Given the description of an element on the screen output the (x, y) to click on. 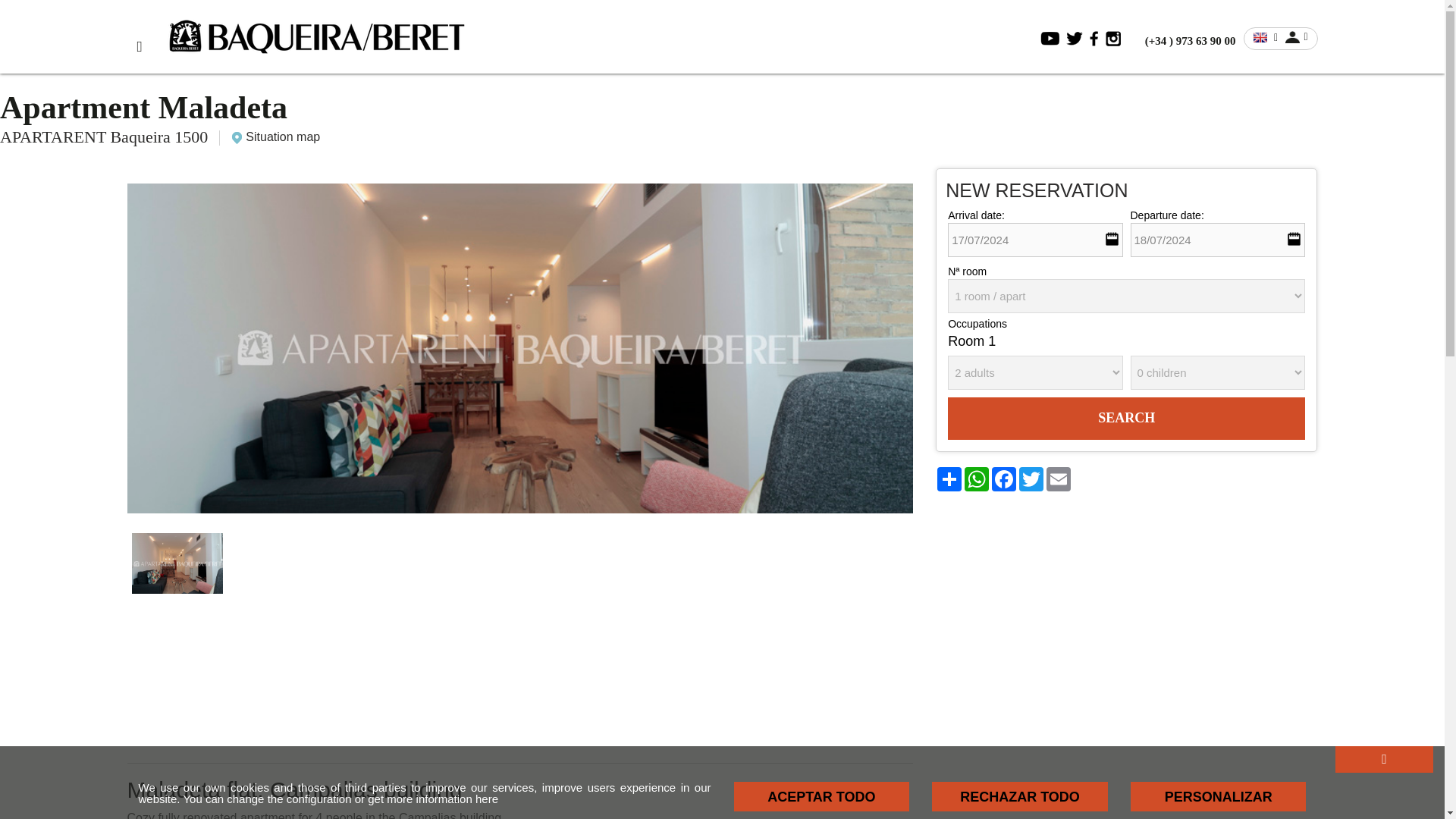
Mis Reservas (1296, 36)
more information here (442, 798)
ACEPTAR TODO (821, 796)
PERSONALIZAR (1218, 796)
Rechazar todo (1019, 796)
Personalizar (1218, 796)
Aceptar todo (821, 796)
RECHAZAR TODO (1019, 796)
English (1259, 37)
